Given the description of an element on the screen output the (x, y) to click on. 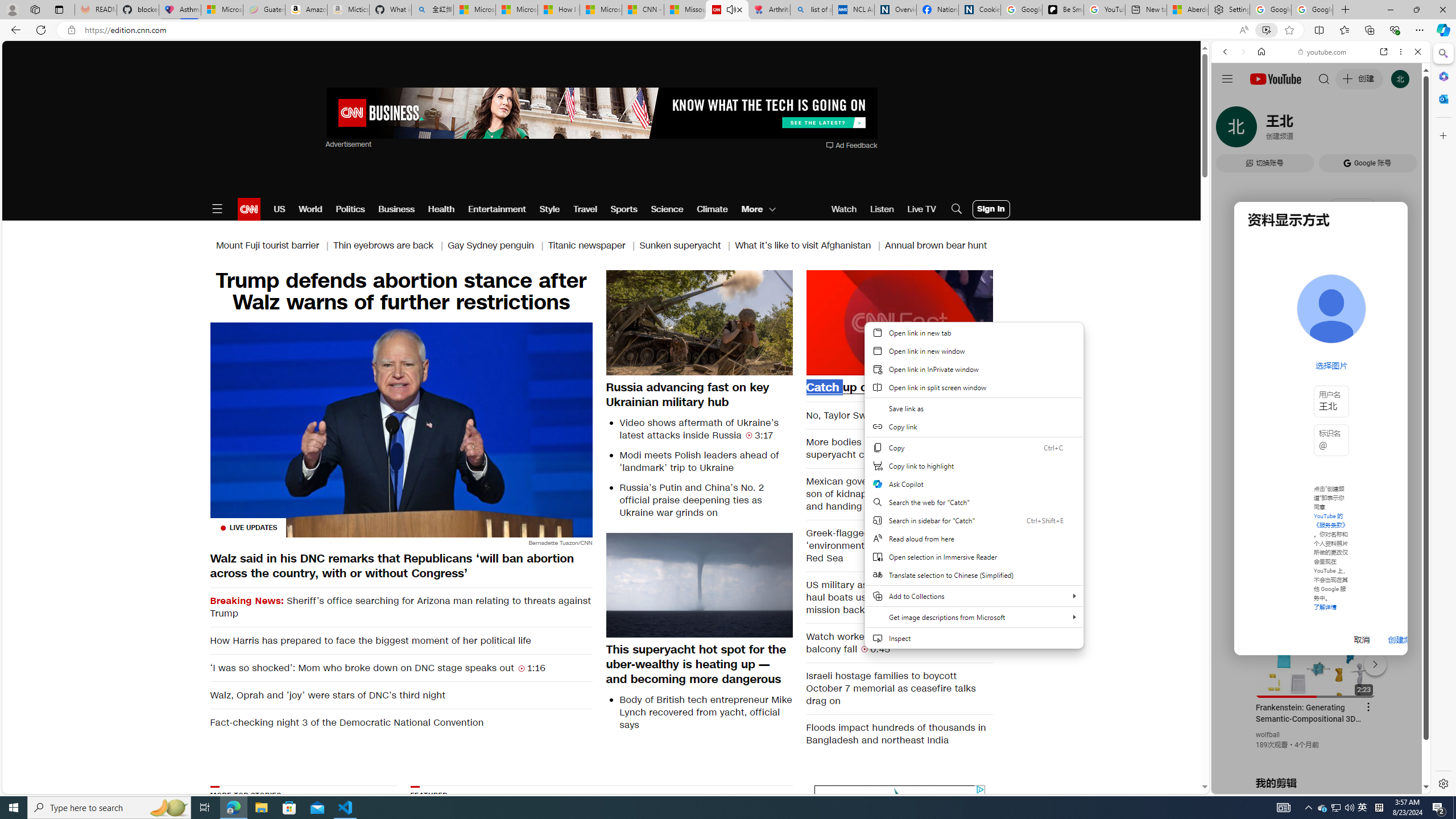
Sunken superyacht | (687, 245)
Open selection in Immersive Reader (973, 556)
Inspect (973, 637)
Search Filter, IMAGES (1262, 129)
Search Filter, WEB (1230, 129)
SEARCH TOOLS (1350, 130)
wolfball (1268, 734)
How I Got Rid of Microsoft Edge's Unnecessary Features (558, 9)
